Given the description of an element on the screen output the (x, y) to click on. 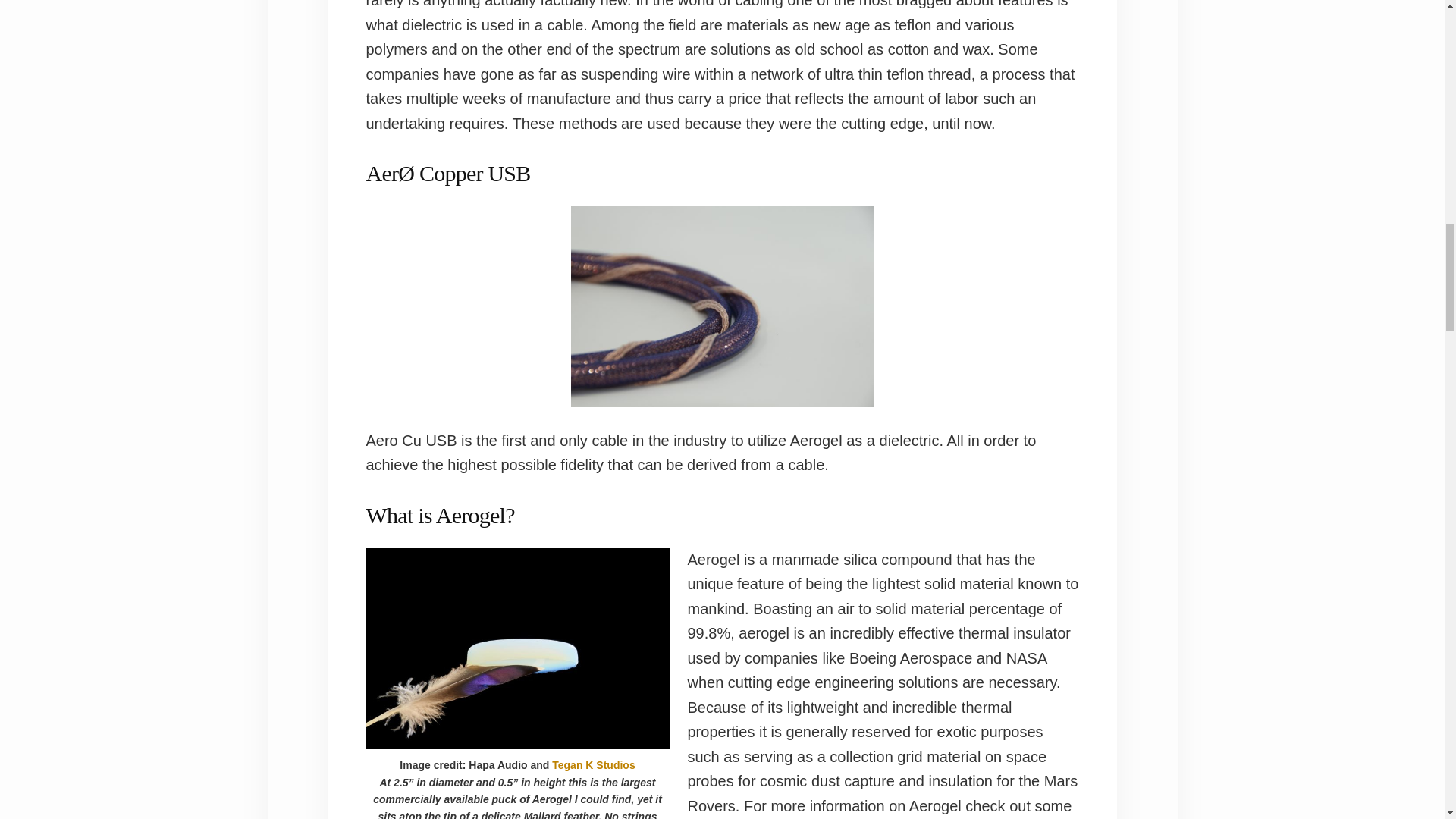
Tegan K Studios (592, 765)
